Given the description of an element on the screen output the (x, y) to click on. 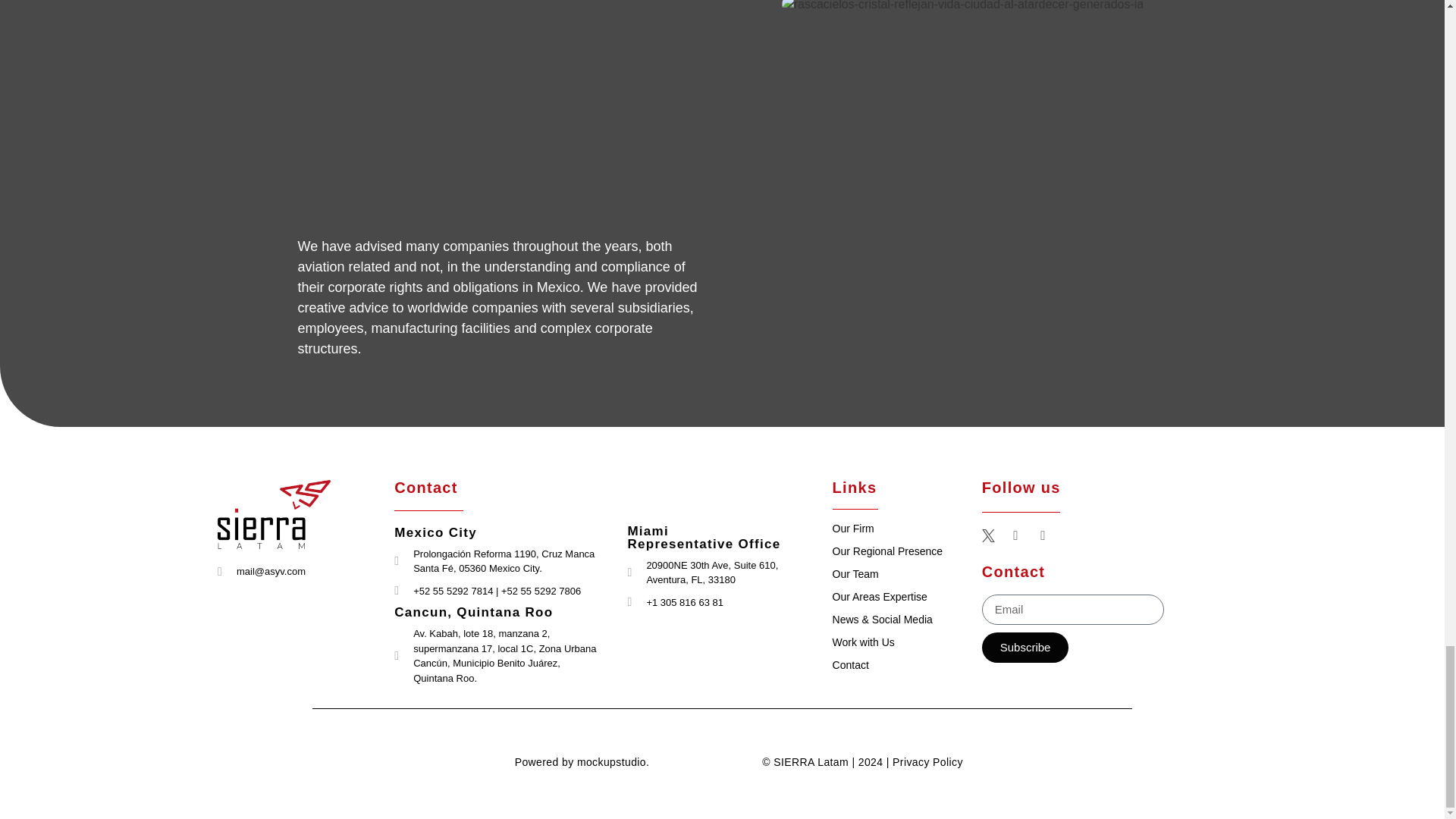
Our Firm (853, 528)
Our Areas Expertise (879, 596)
Our Regional Presence (887, 551)
Work with Us (863, 642)
Our Team (855, 573)
Contact (850, 664)
mockupstudio (611, 761)
Subscribe (1024, 647)
